Given the description of an element on the screen output the (x, y) to click on. 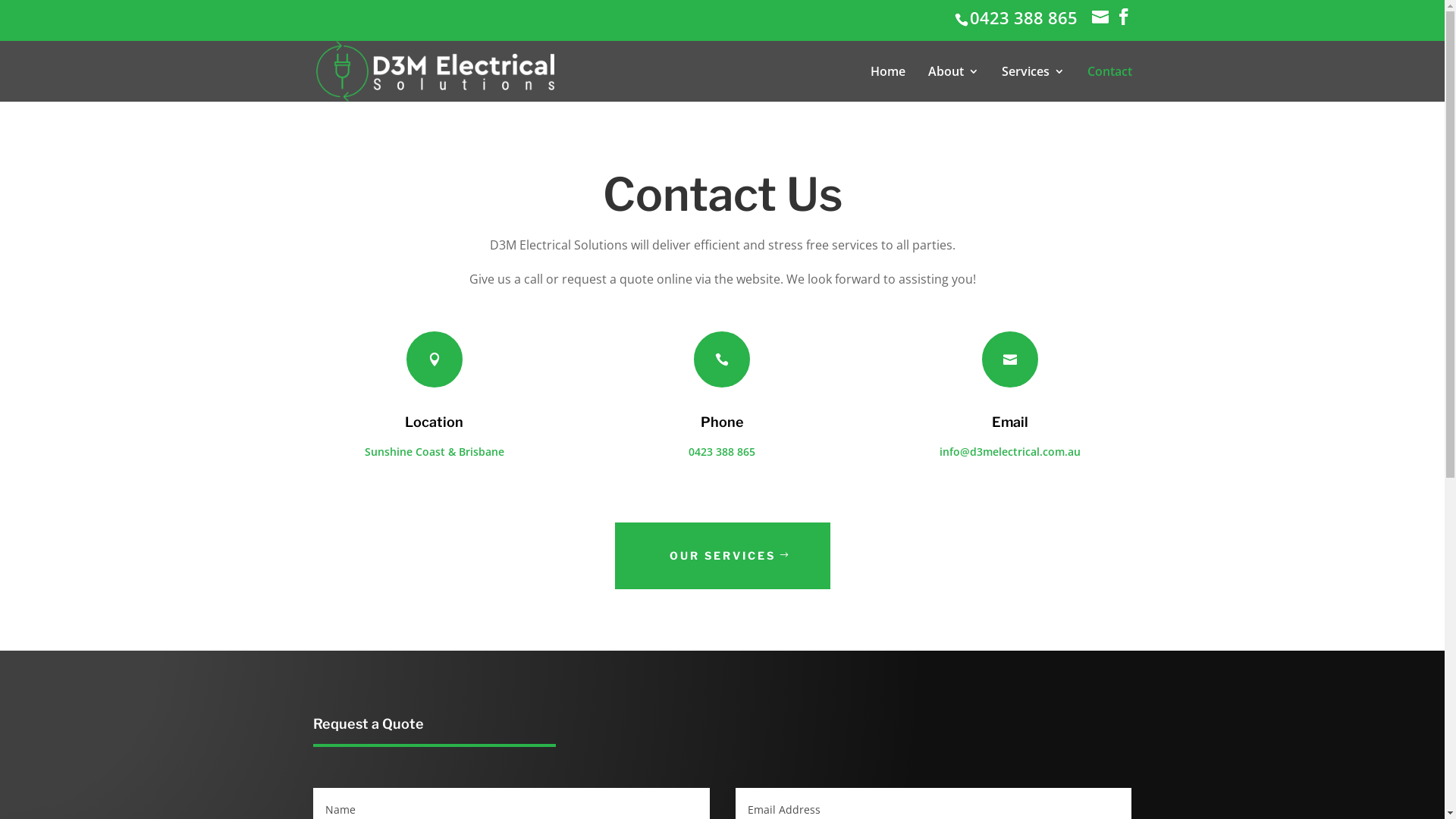
Contact Element type: text (1109, 83)
Home Element type: text (887, 83)
info@d3melectrical.com.au Element type: text (1009, 451)
Phone Element type: text (721, 421)
About Element type: text (953, 83)
Email Element type: text (1009, 421)
0423 388 865 Element type: text (1025, 17)
0423 388 865 Element type: text (721, 451)
Services Element type: text (1032, 83)
info@d3melectrical.com.au Element type: text (1101, 17)
OUR SERVICES Element type: text (721, 555)
